Given the description of an element on the screen output the (x, y) to click on. 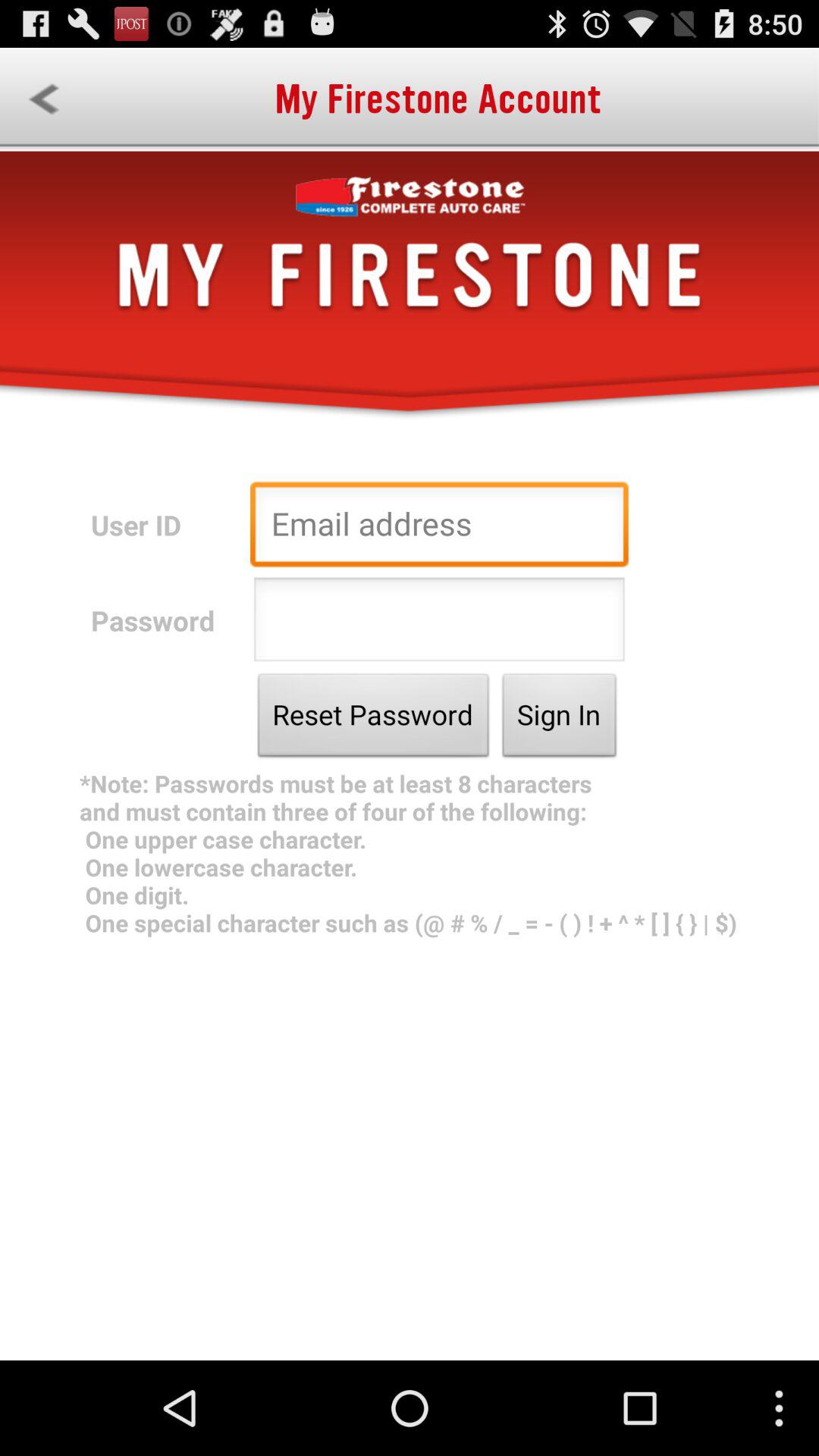
launch the item above the note passwords must item (559, 719)
